Given the description of an element on the screen output the (x, y) to click on. 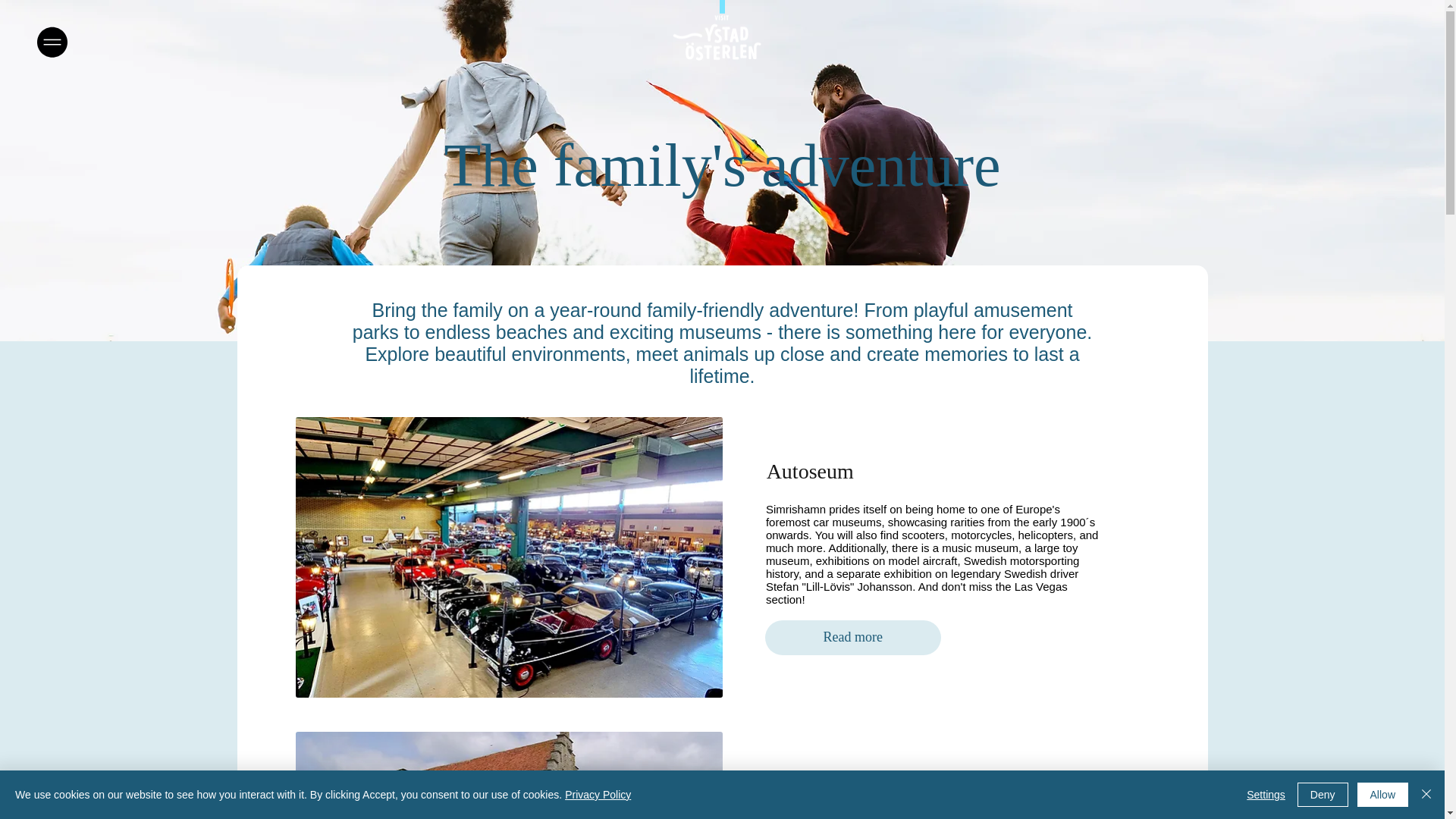
Read more (852, 637)
Allow (1381, 794)
Privacy Policy (597, 794)
Deny (1322, 794)
